Given the description of an element on the screen output the (x, y) to click on. 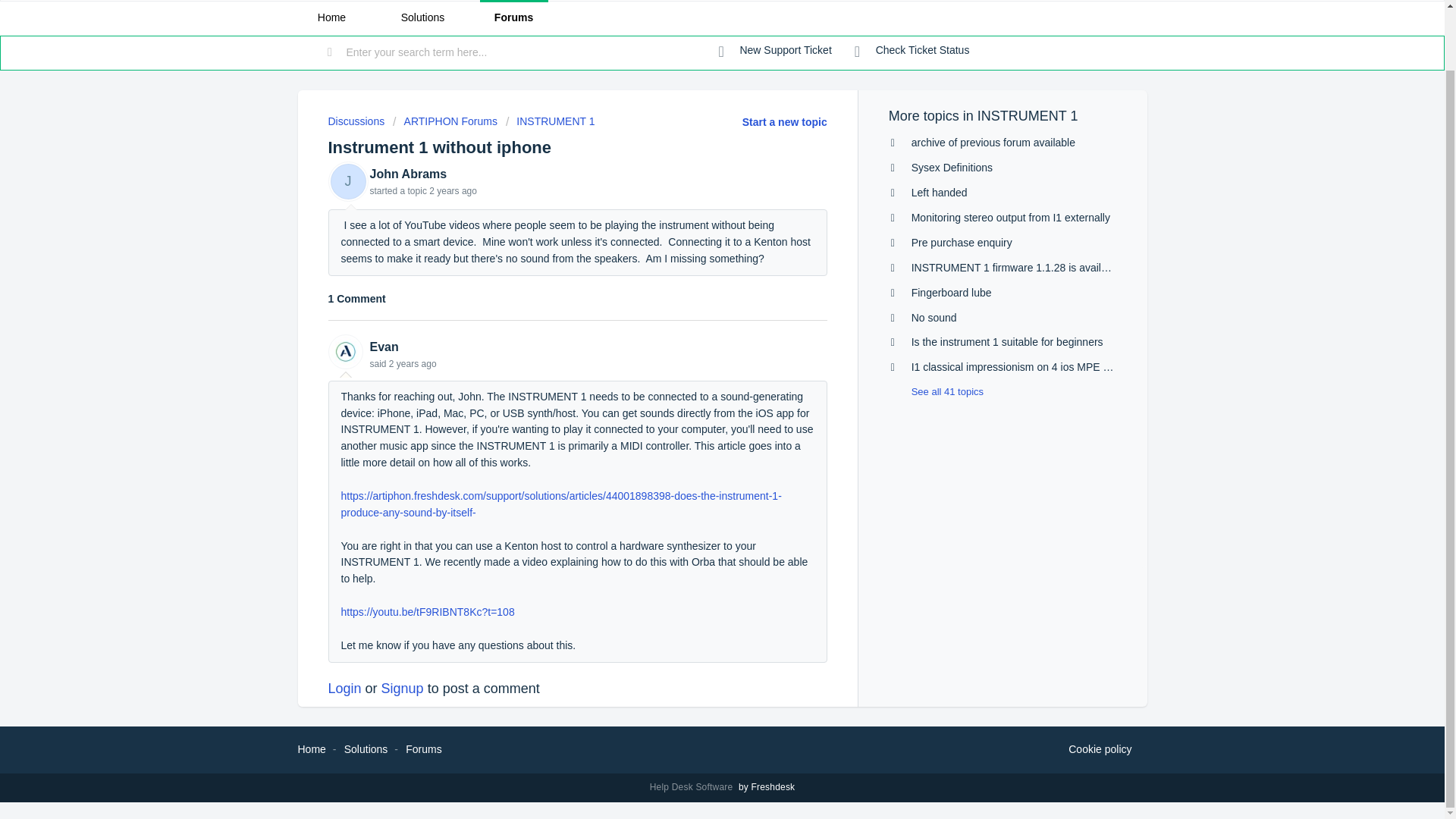
Monitoring stereo output from I1 externally (1010, 217)
Login (344, 688)
Why we love Cookies (1099, 750)
Forums (513, 18)
Forums (423, 748)
Signup (402, 688)
INSTRUMENT 1 (550, 121)
See all 41 topics (936, 391)
Check Ticket Status (911, 50)
Is the instrument 1 suitable for beginners (1007, 341)
